Given the description of an element on the screen output the (x, y) to click on. 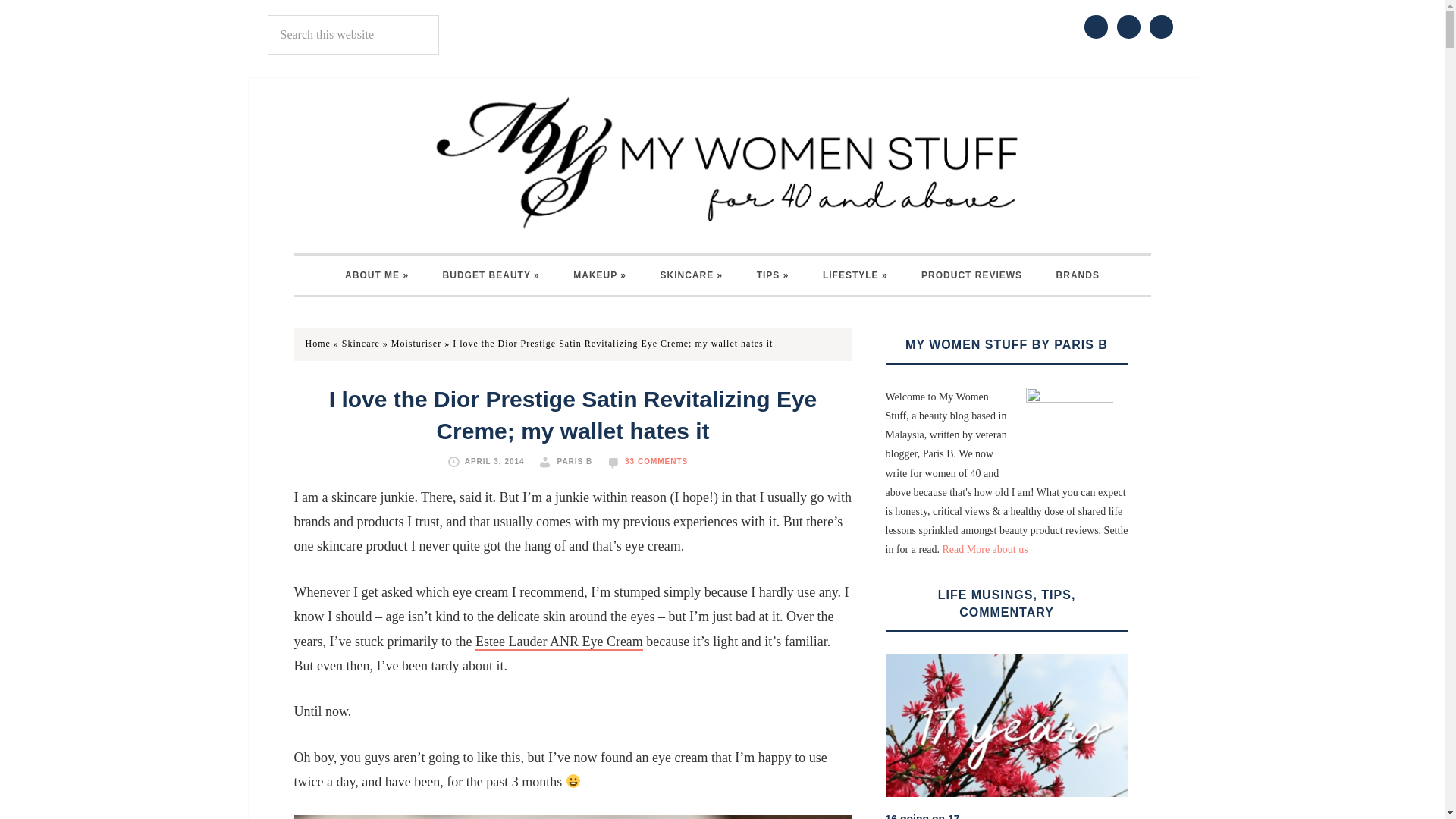
Tips and Tricks (773, 274)
About Me (376, 274)
Beauty on a Budget (491, 274)
My Women Stuff (722, 161)
Click for all Skincare Reiews (691, 274)
All product reviews (970, 274)
